Given the description of an element on the screen output the (x, y) to click on. 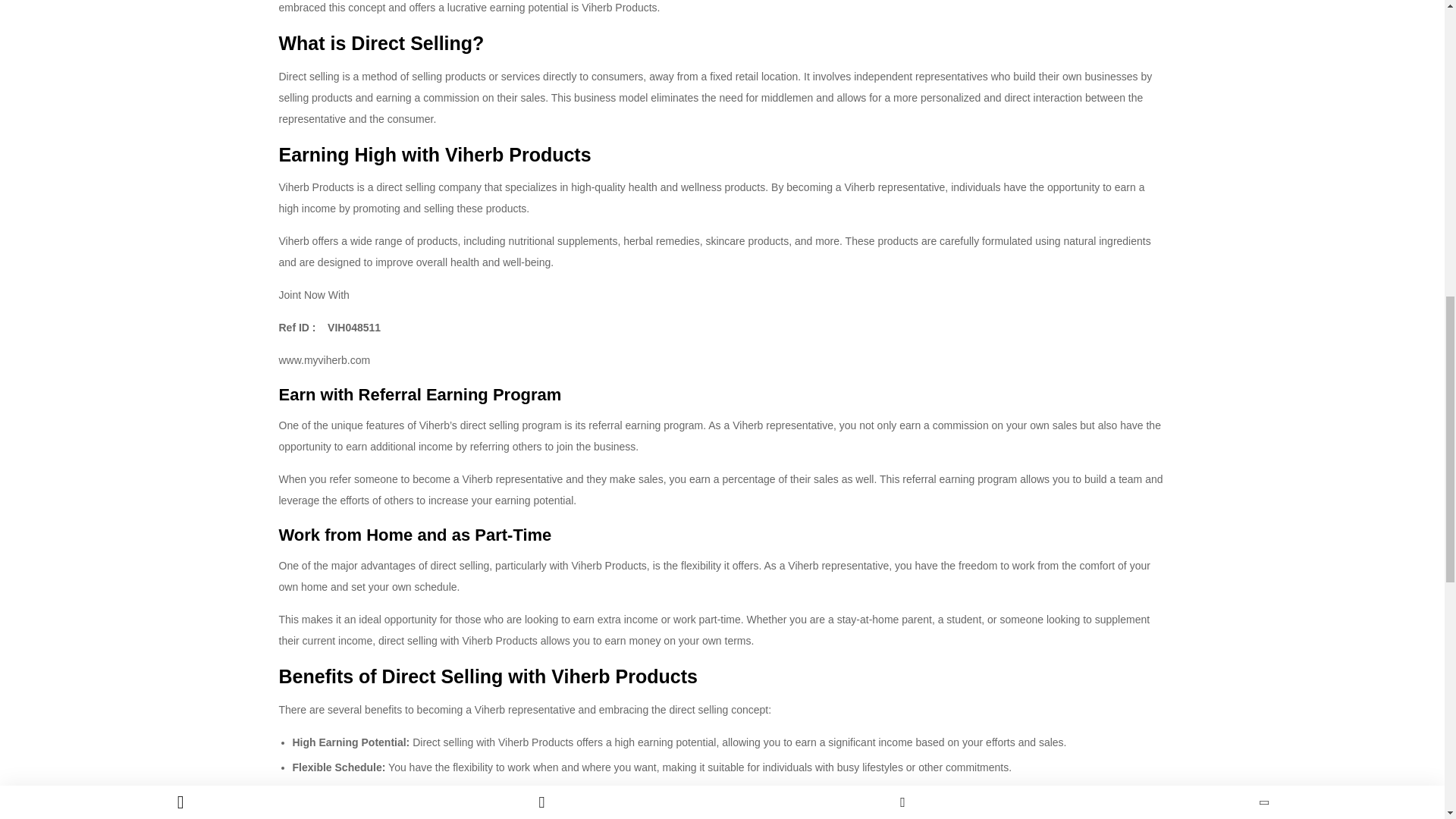
direct selling (459, 565)
Earning High with Viherb Products (435, 154)
Direct selling (309, 76)
Viherb Products (609, 565)
www.myviherb.com  (325, 359)
Viherb Products (316, 186)
Earn with Referral Earning Program (420, 394)
